Given the description of an element on the screen output the (x, y) to click on. 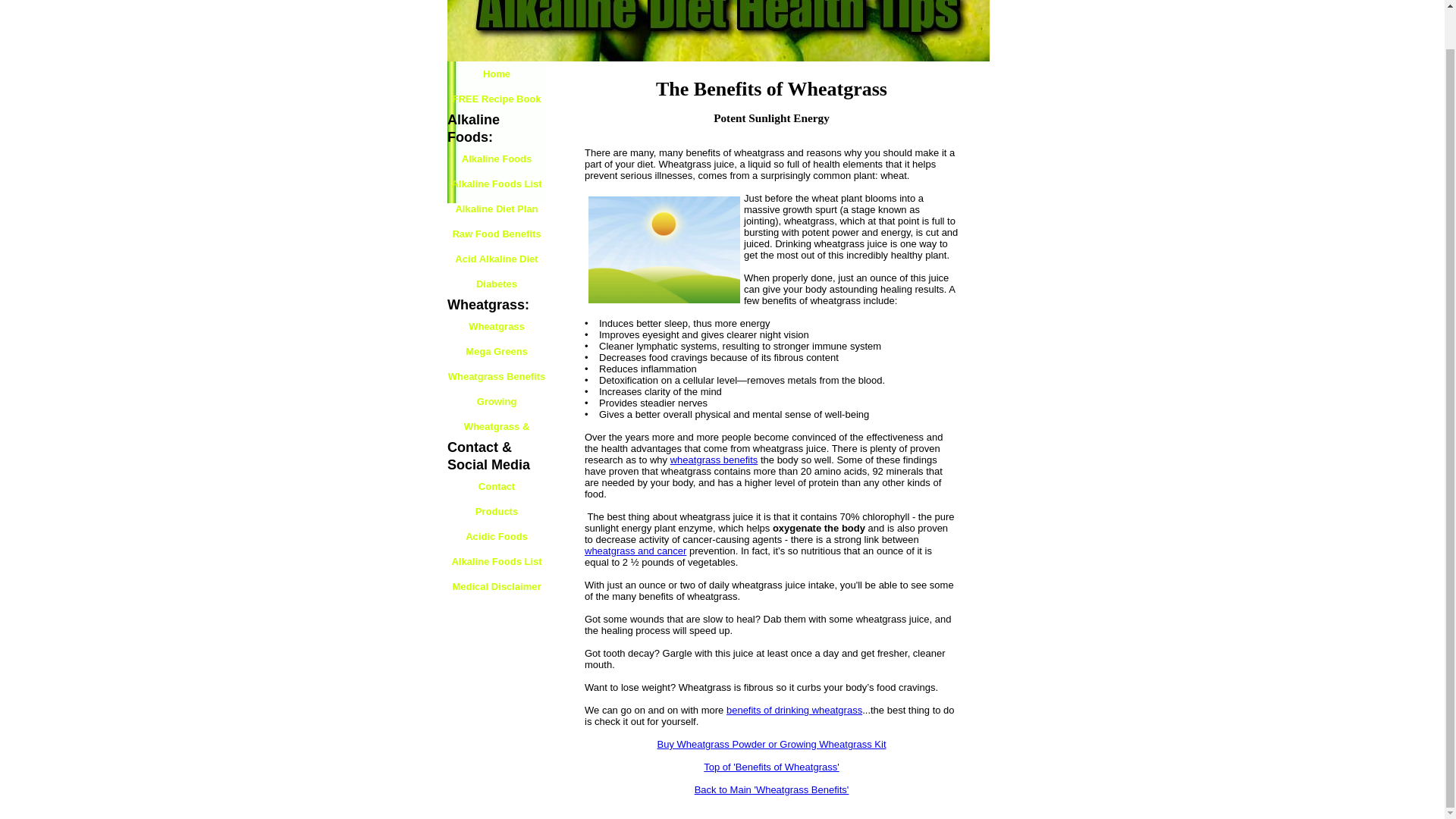
Alkaline Foods List (496, 183)
Growing Wheatgrass (496, 401)
Raw Food Benefits (496, 233)
Alkaline Foods List (496, 561)
FREE Recipe Book (496, 98)
Acidic Foods (496, 536)
Contact (496, 486)
Home (496, 73)
Buy Wheatgrass Powder or Growing Wheatgrass Kit (770, 744)
Alkaline Diet Plan (496, 208)
